Given the description of an element on the screen output the (x, y) to click on. 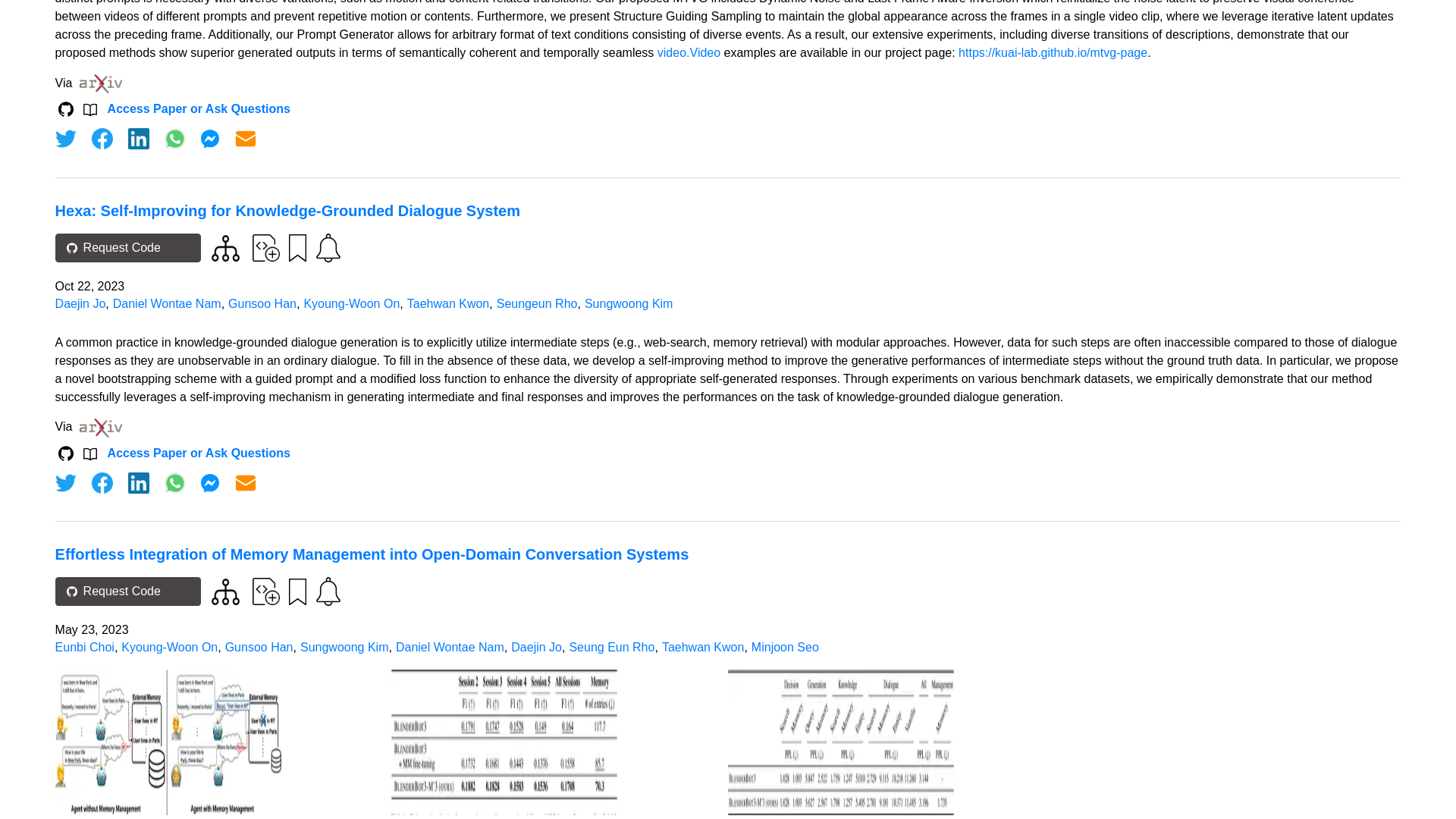
Share via Email (245, 138)
Contribute your code for this paper to the community (265, 247)
View code for similar papers (225, 248)
Share via Email (245, 482)
